Given the description of an element on the screen output the (x, y) to click on. 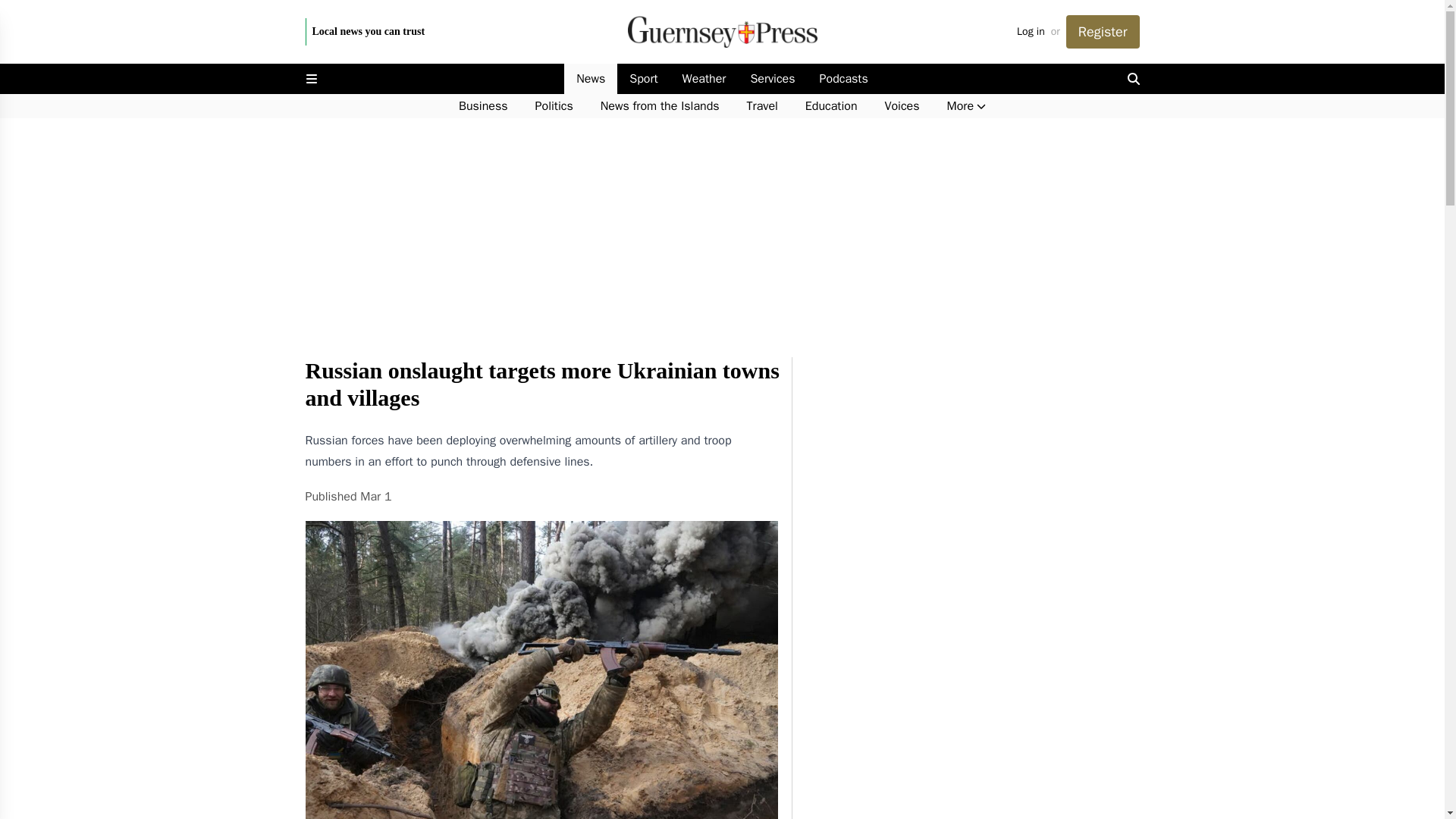
Log in (1030, 31)
More (965, 105)
Travel (762, 105)
Register (1102, 31)
News (590, 78)
News from the Islands (660, 105)
Business (482, 105)
Sport (643, 78)
Podcasts (844, 78)
Weather (703, 78)
